Given the description of an element on the screen output the (x, y) to click on. 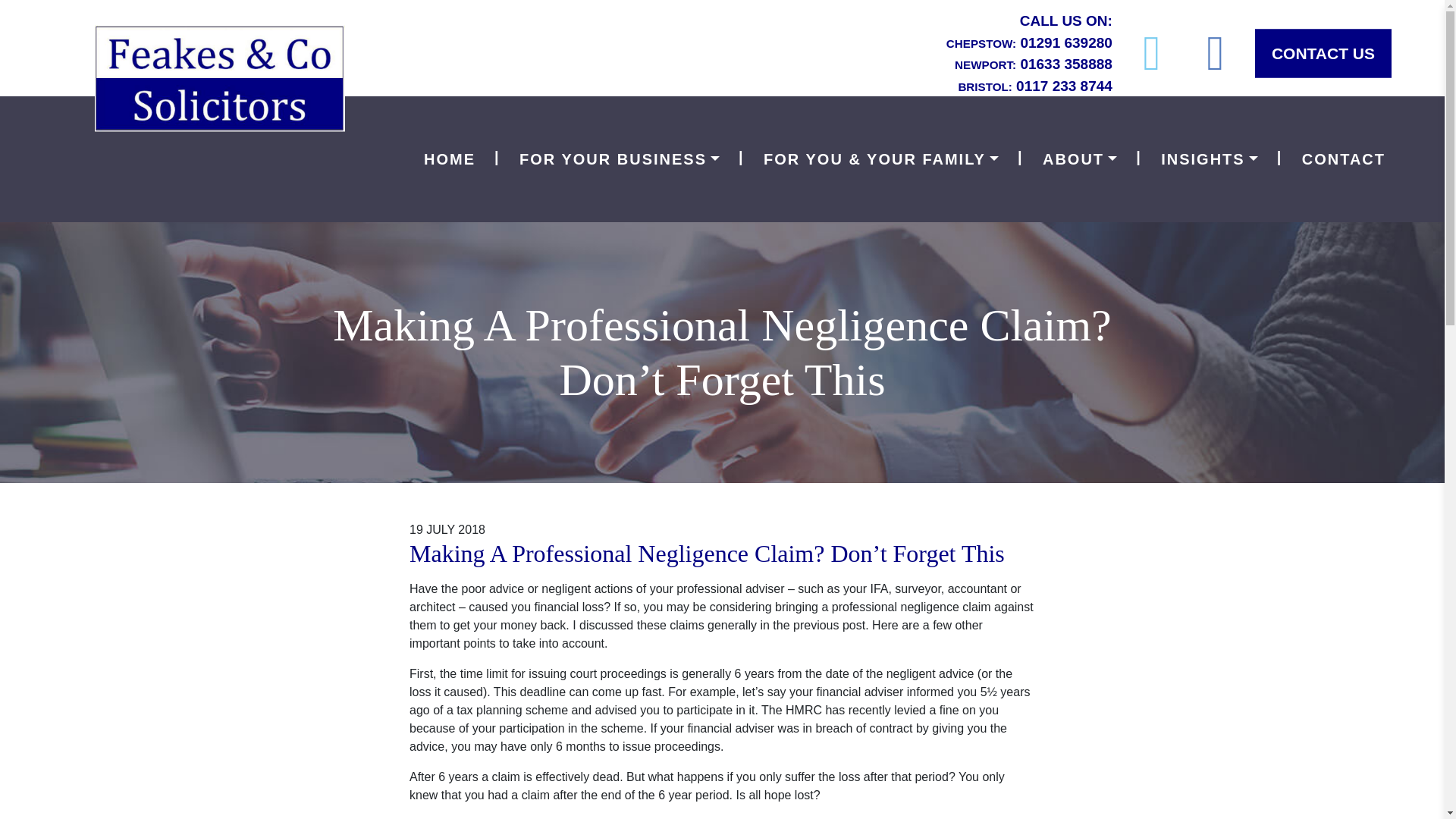
For Your Business (619, 158)
01633 358888 (1066, 64)
01291 639280 (1066, 41)
Home (449, 158)
HOME (449, 158)
FOR YOUR BUSINESS (619, 158)
CONTACT US (1323, 53)
0117 233 8744 (1064, 84)
